Given the description of an element on the screen output the (x, y) to click on. 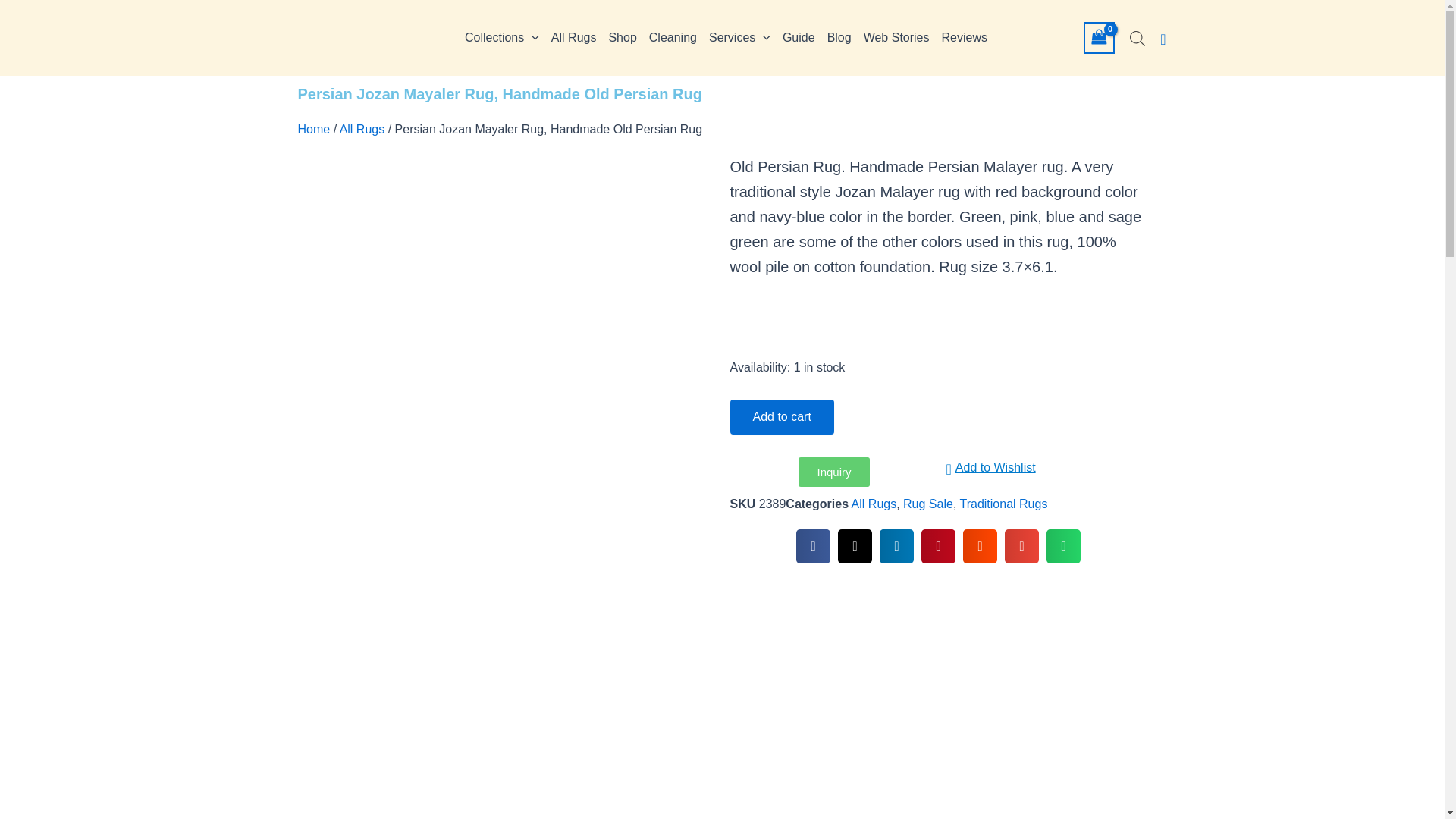
Web Stories (896, 37)
Reviews (964, 37)
Cleaning (673, 37)
Collections (501, 37)
All Rugs (573, 37)
Services (739, 37)
